Given the description of an element on the screen output the (x, y) to click on. 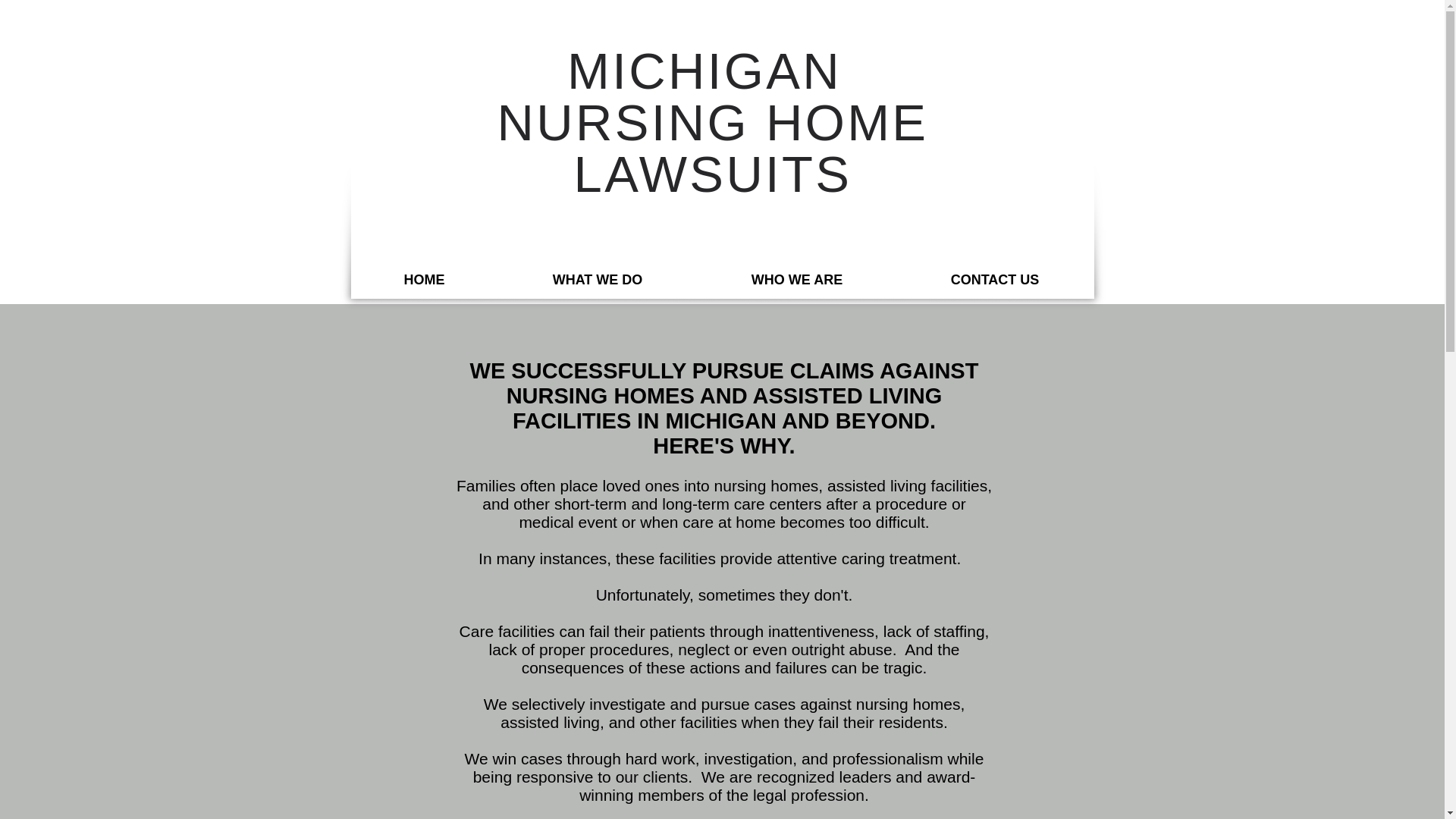
HOME (423, 279)
WHAT WE DO (597, 279)
CONTACT US (994, 279)
WHO WE ARE (796, 279)
